Given the description of an element on the screen output the (x, y) to click on. 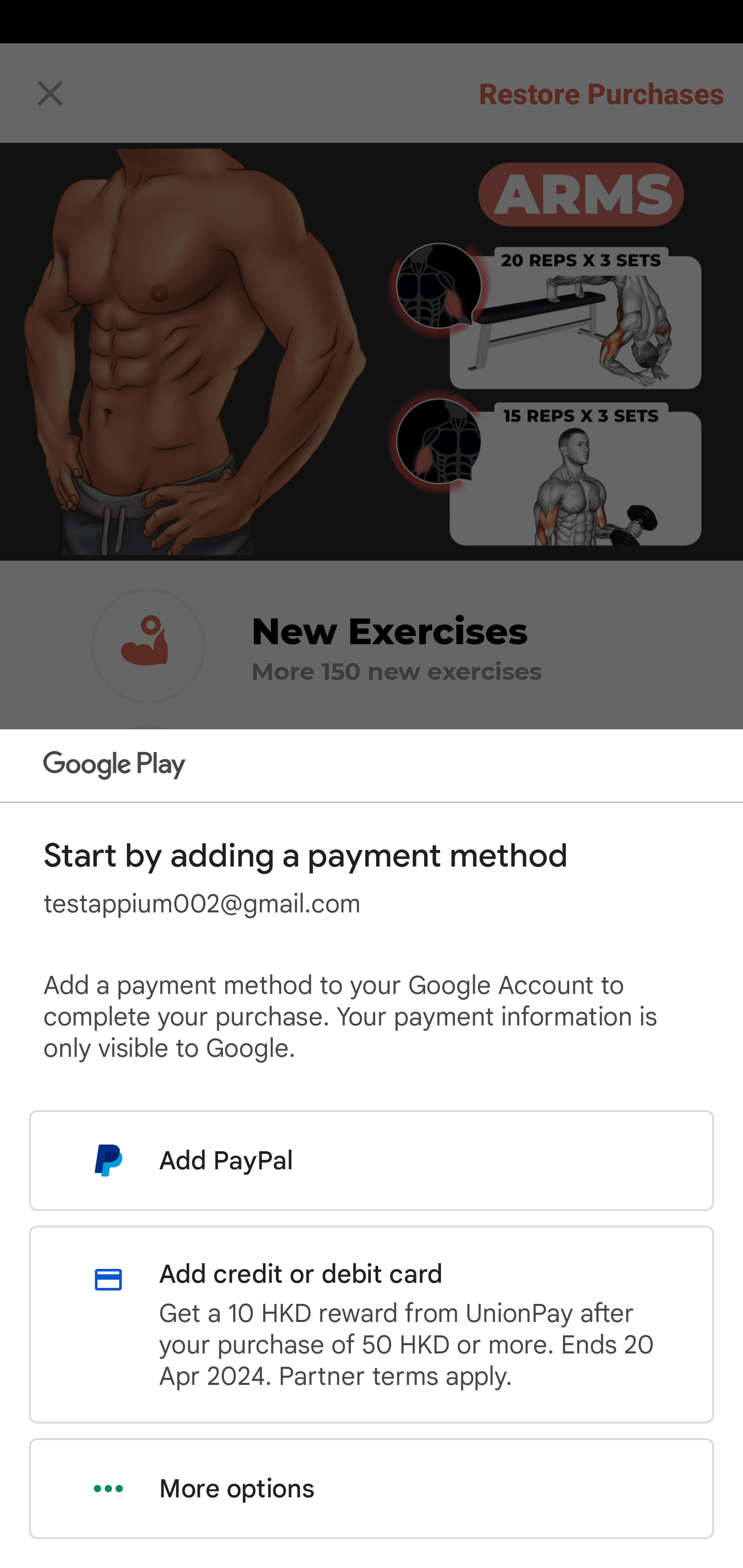
Add PayPal (371, 1160)
More options (371, 1488)
